Given the description of an element on the screen output the (x, y) to click on. 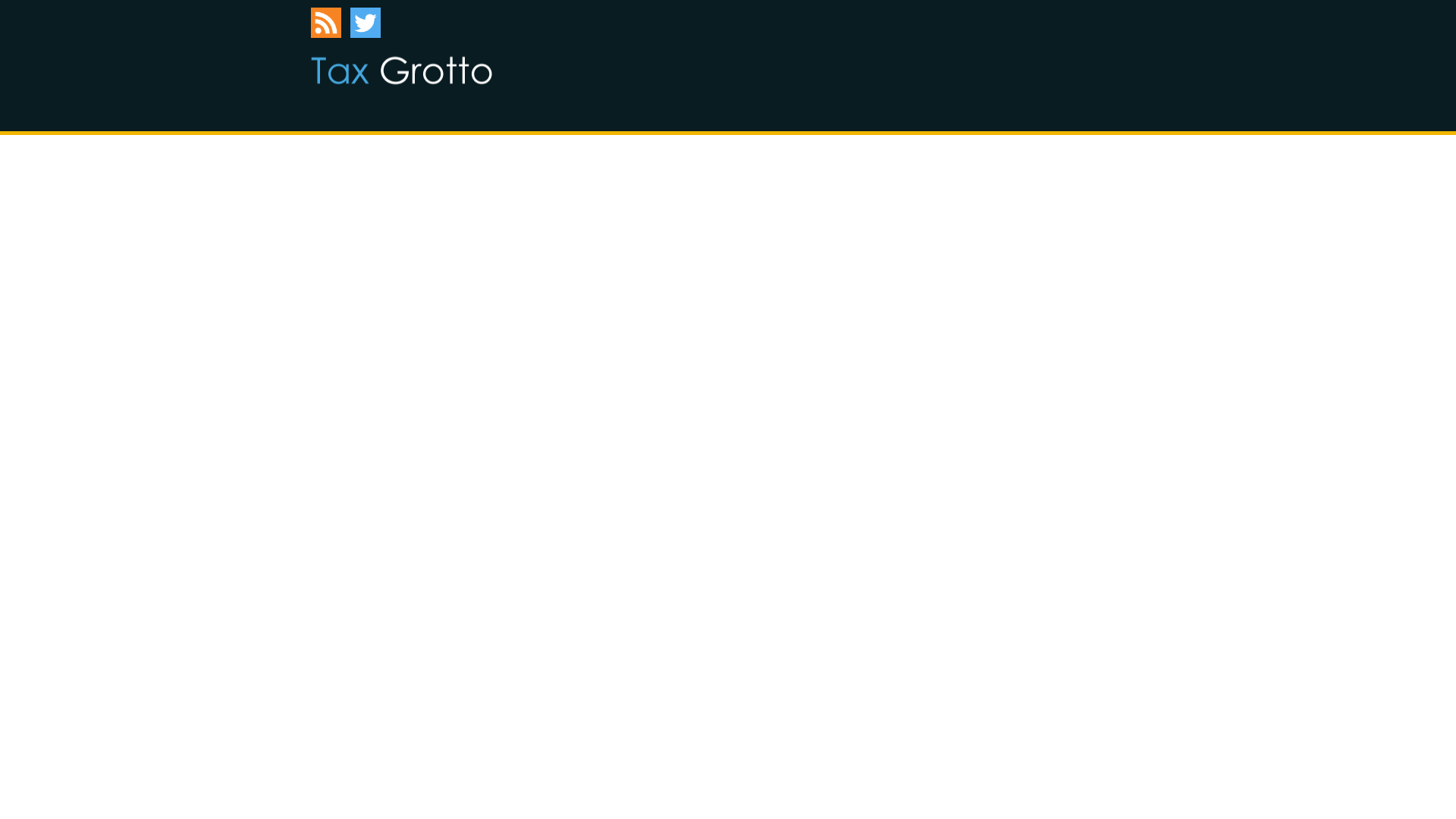
Movers and Shakers in the Global Tax Market (401, 70)
Tax Grotto (401, 70)
